Given the description of an element on the screen output the (x, y) to click on. 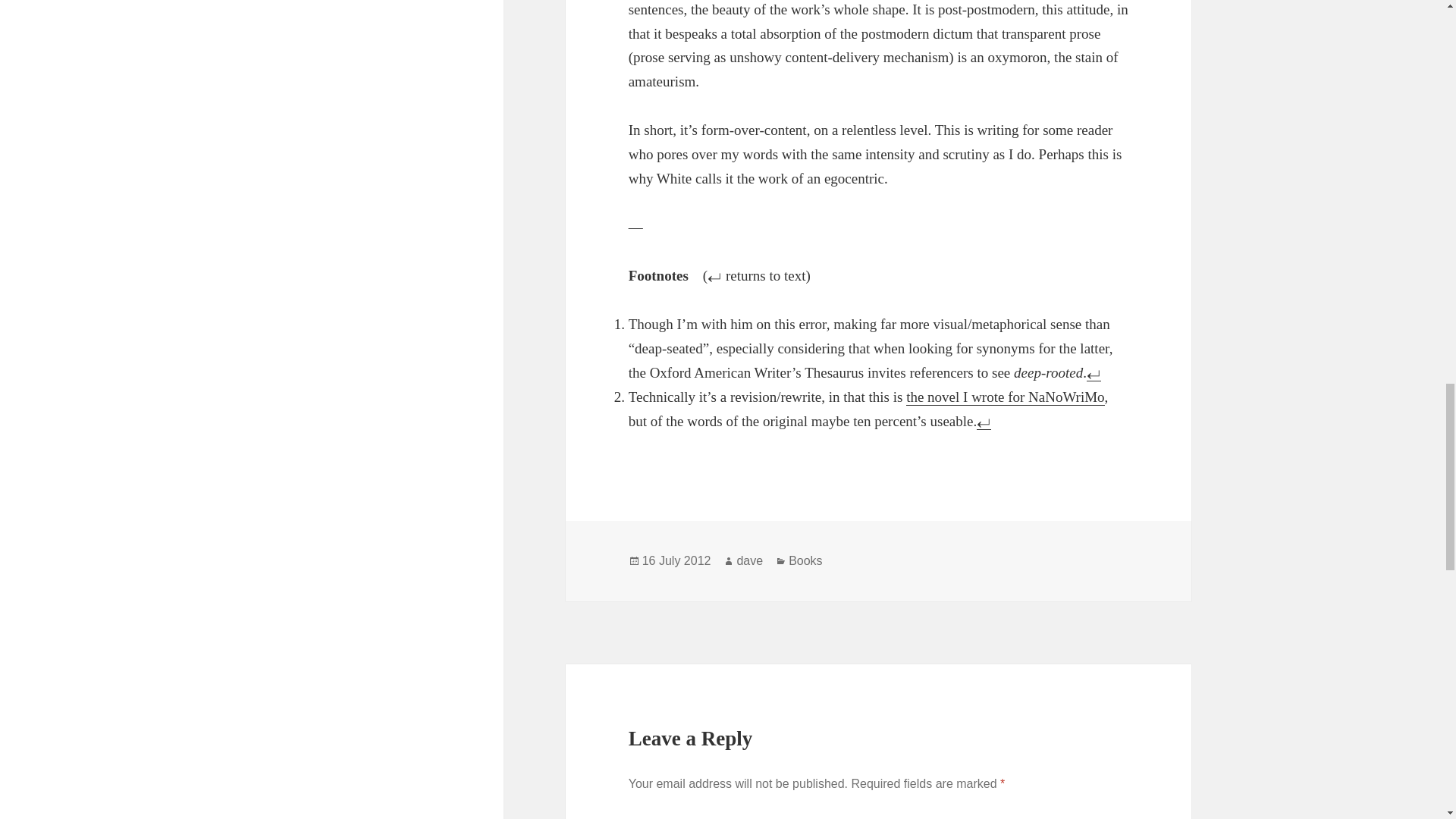
dave (749, 561)
16 July 2012 (676, 561)
Endgame (1004, 397)
Books (805, 561)
the novel I wrote for NaNoWriMo (1004, 397)
